Given the description of an element on the screen output the (x, y) to click on. 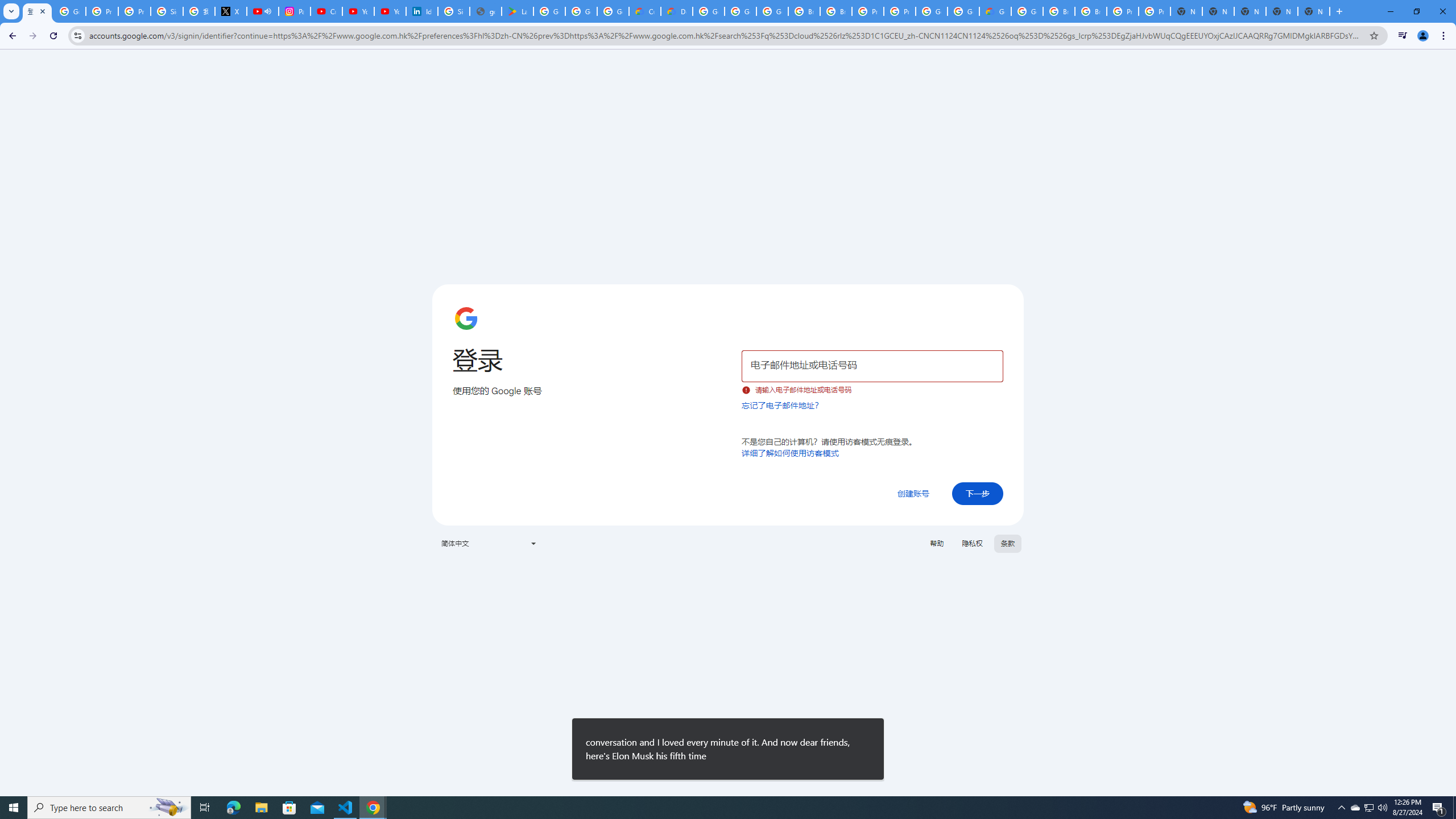
X (230, 11)
Control your music, videos, and more (1402, 35)
